Given the description of an element on the screen output the (x, y) to click on. 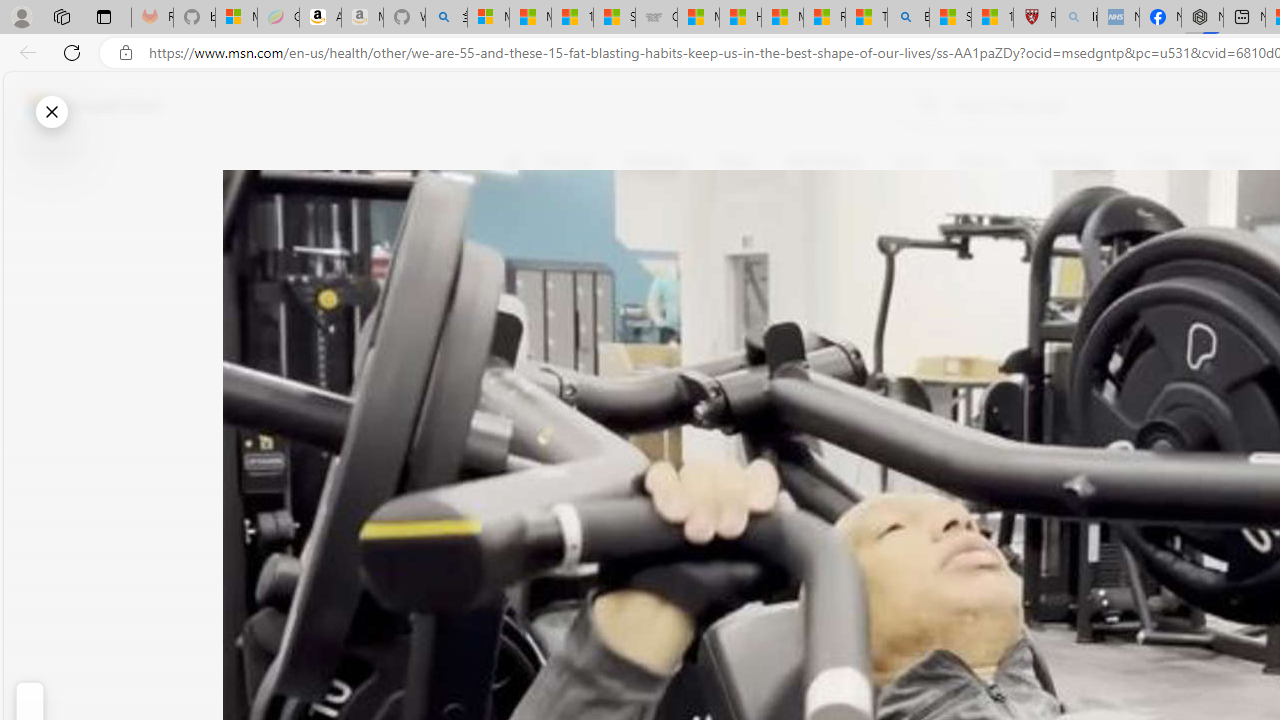
Web search (924, 105)
6 (525, 300)
Politics (1227, 162)
